Given the description of an element on the screen output the (x, y) to click on. 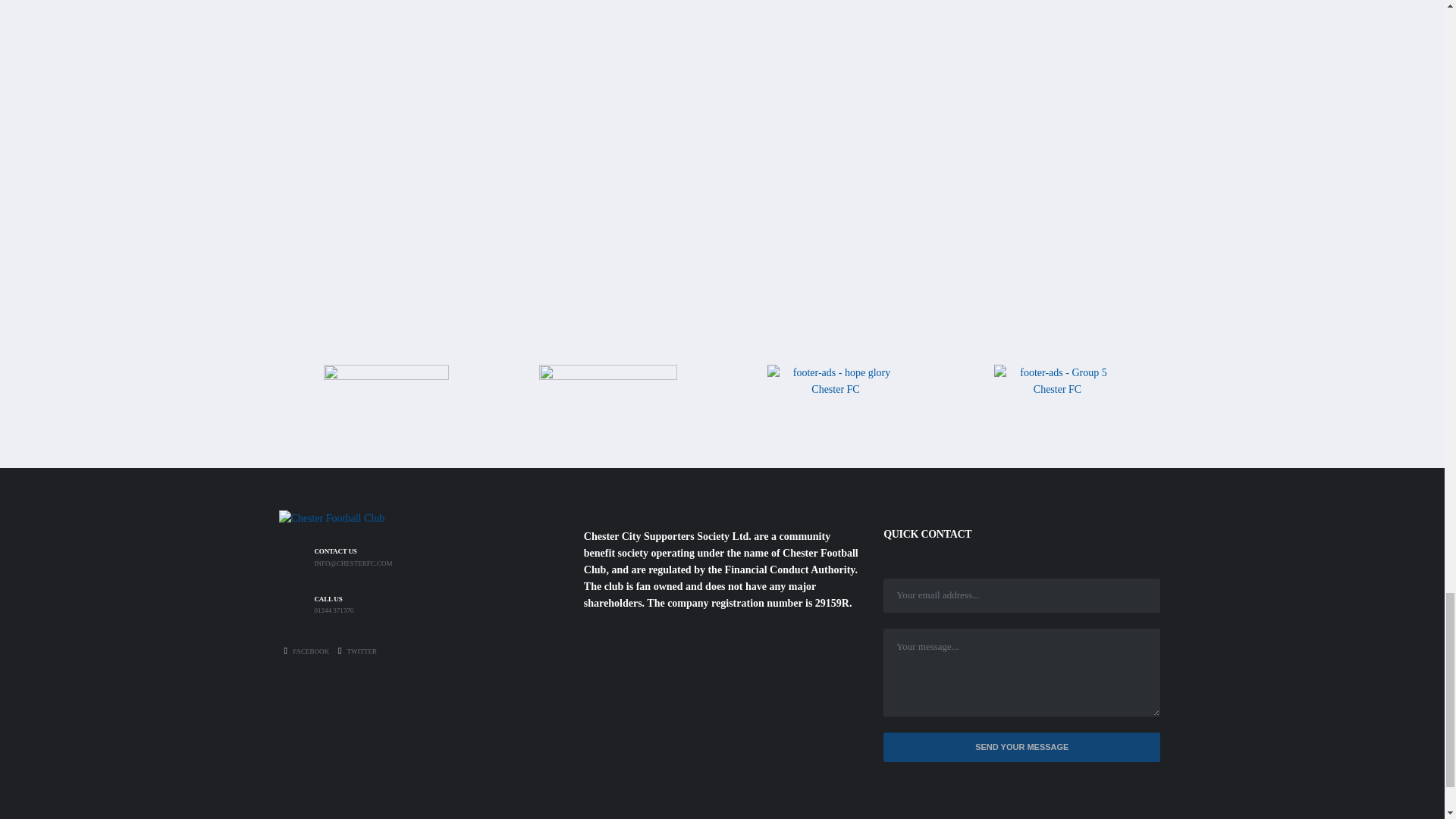
New-Balance-80 (385, 394)
Send Your Message (1021, 747)
mbna-2019-1 (607, 395)
hope glory photo (835, 397)
Group 5 photo (1057, 389)
